Given the description of an element on the screen output the (x, y) to click on. 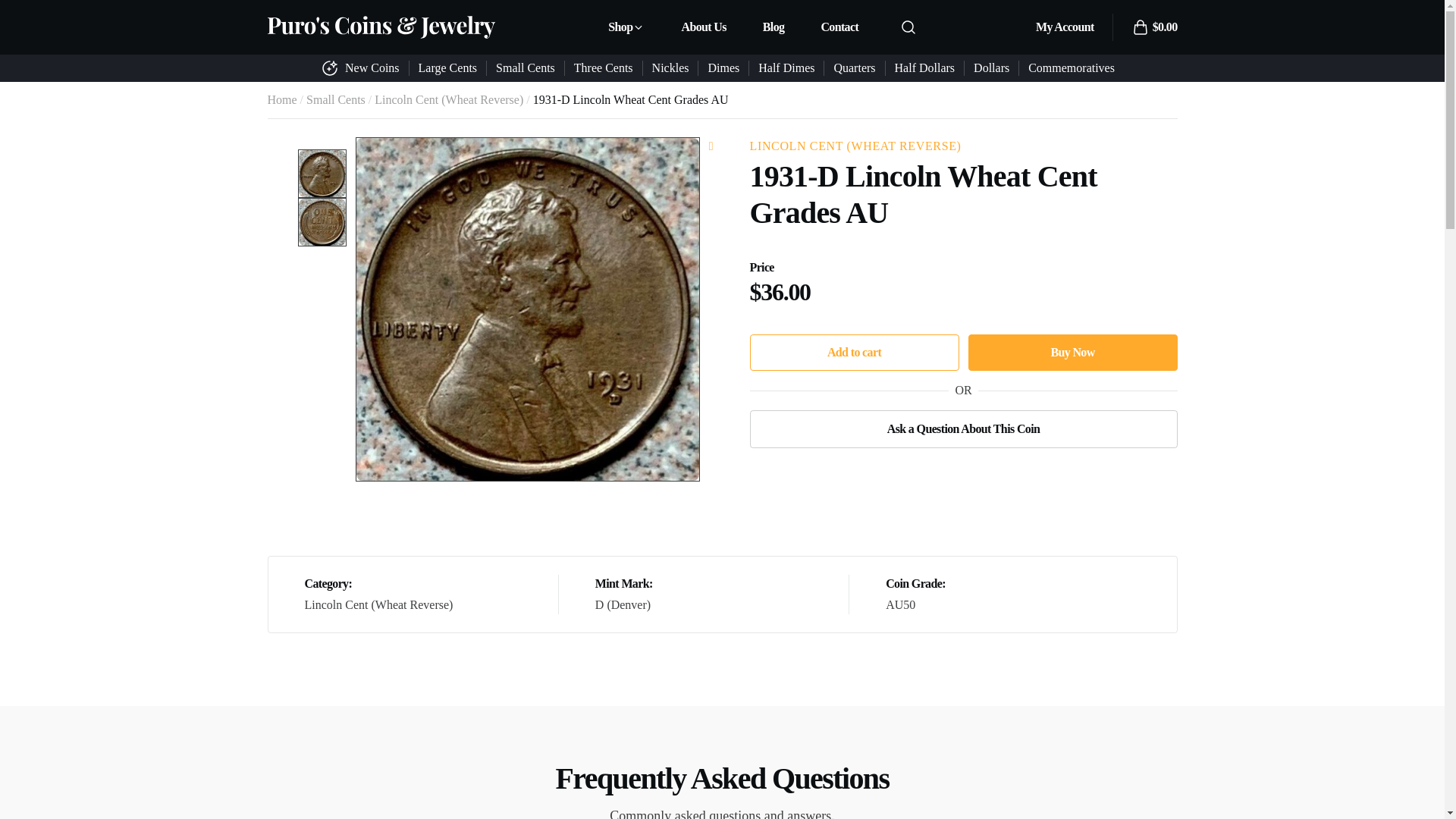
Shop (626, 26)
About Us (703, 26)
Contact (840, 26)
